Given the description of an element on the screen output the (x, y) to click on. 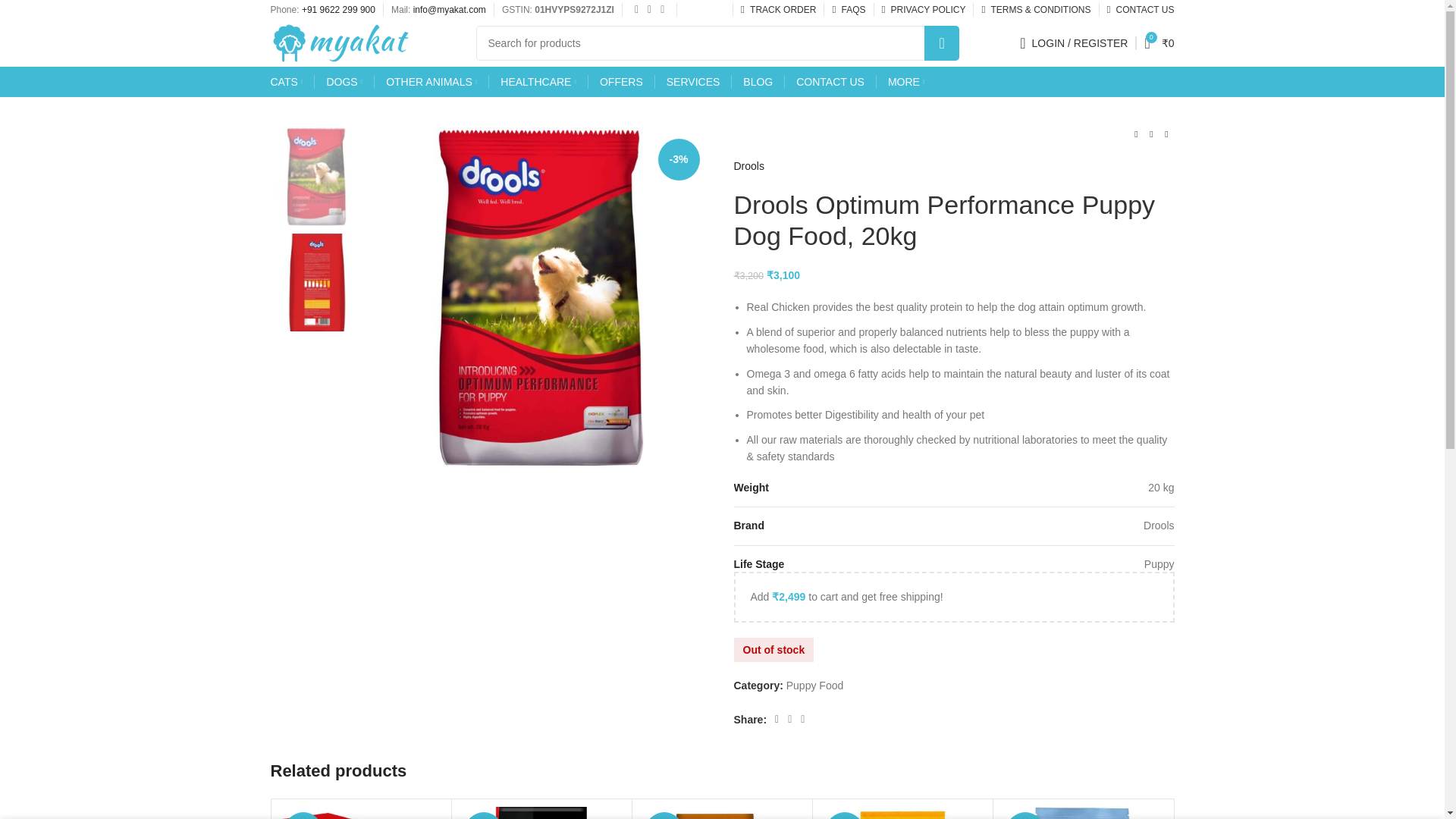
Shopping cart (1158, 42)
SEARCH (941, 42)
FAQS (847, 12)
TRACK ORDER (778, 12)
My account (1073, 42)
CONTACT US (1140, 12)
CATS (285, 81)
PRIVACY POLICY (922, 12)
Search for products (717, 42)
